Given the description of an element on the screen output the (x, y) to click on. 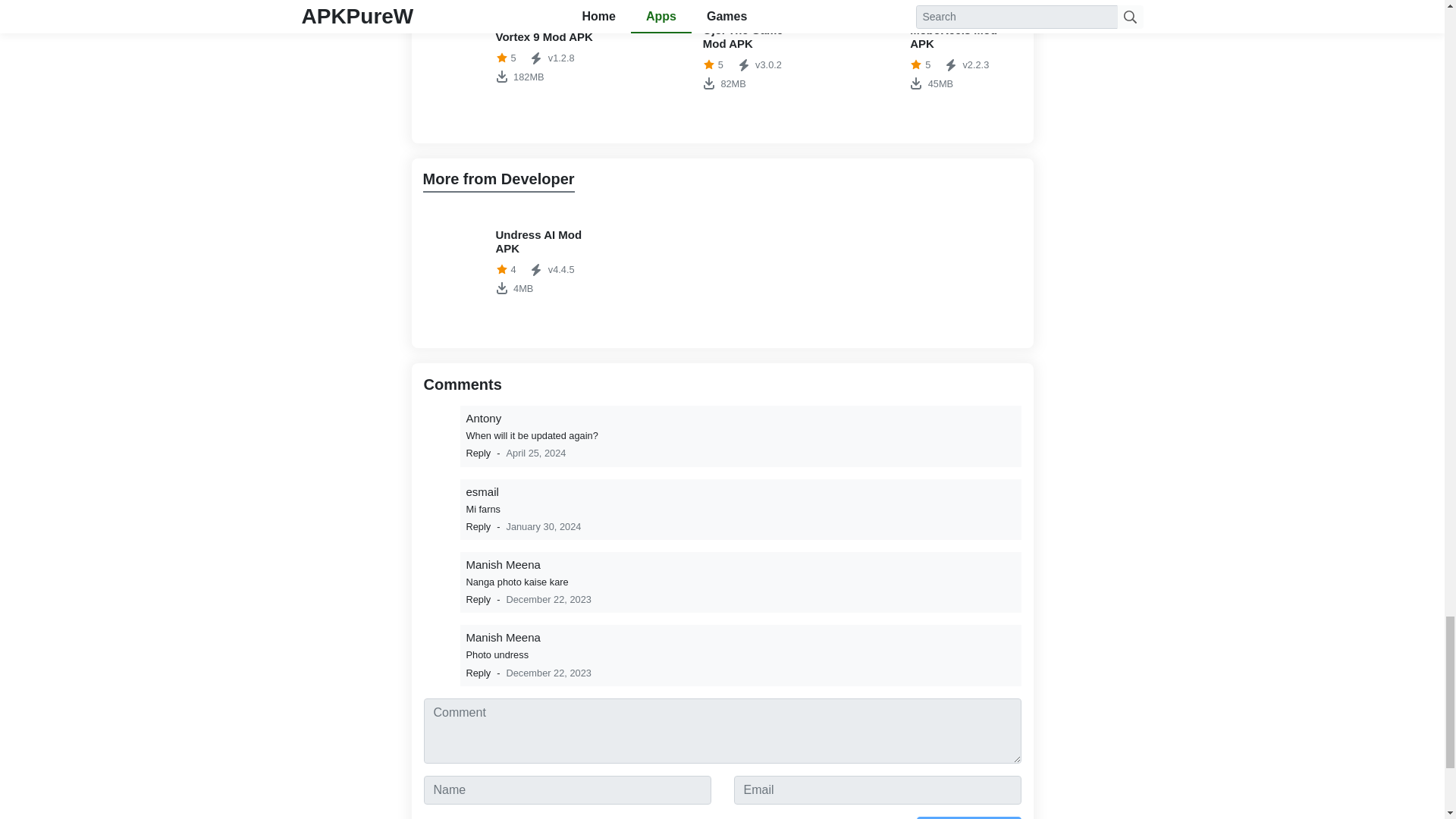
 MoboReels Mod APK (929, 56)
Reply (477, 526)
 Ojol The Game Mod APK (721, 56)
Reply (477, 672)
 Vortex 9 Mod APK (721, 56)
Reply (515, 56)
Send Comment (477, 599)
Reply (968, 817)
